Given the description of an element on the screen output the (x, y) to click on. 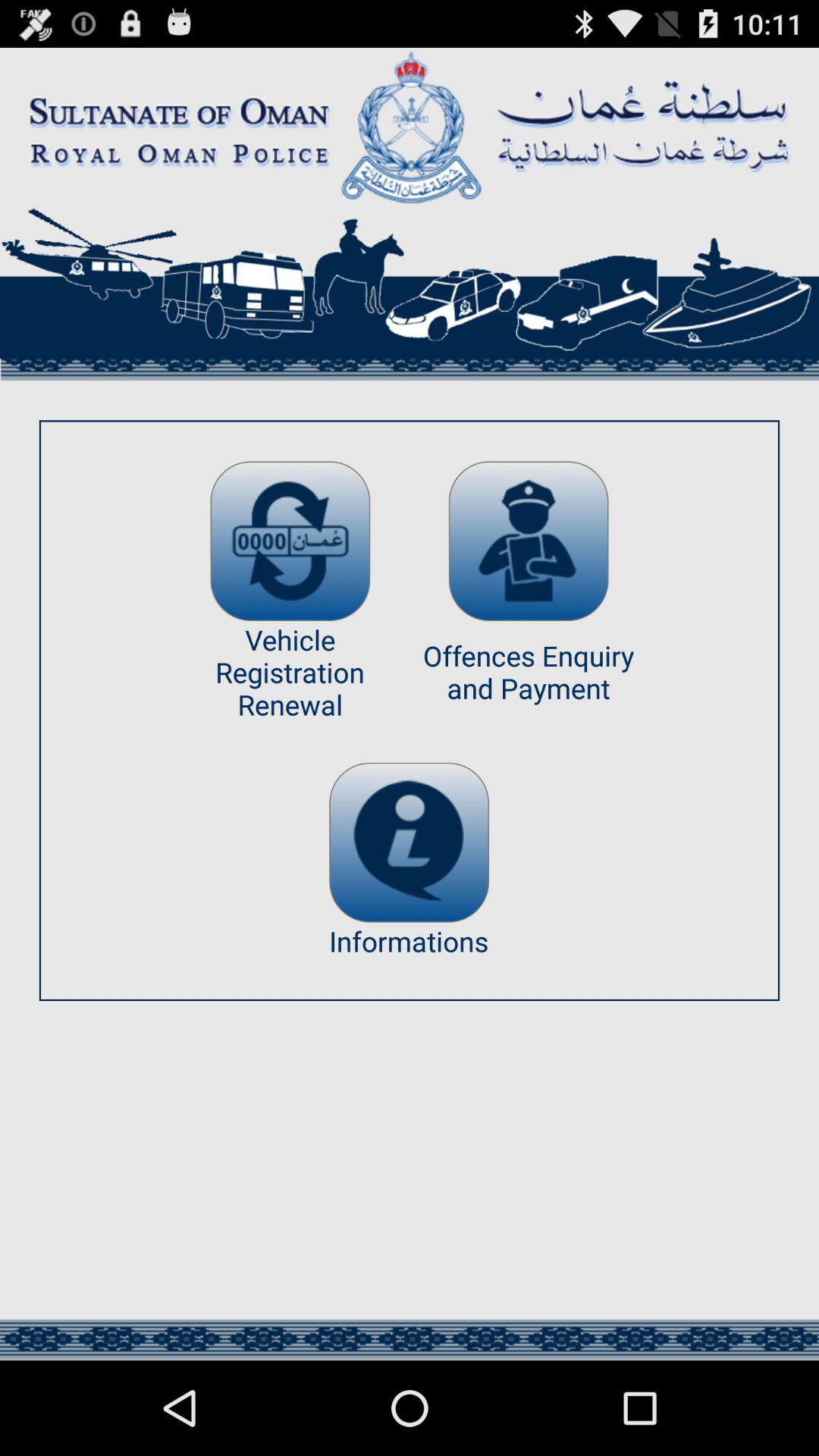
click on the information symbol (409, 842)
